Given the description of an element on the screen output the (x, y) to click on. 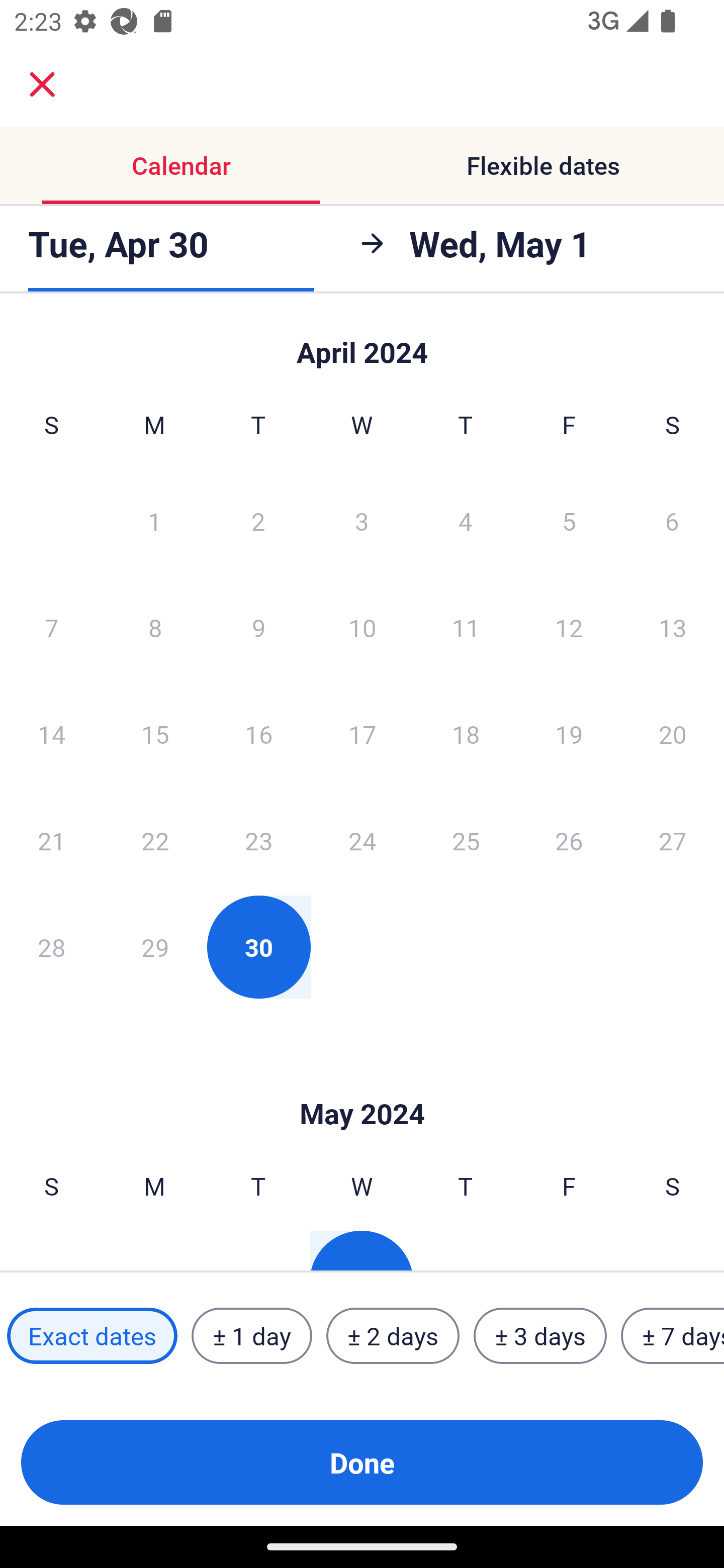
close. (42, 84)
Flexible dates (542, 164)
Skip to Done (362, 343)
1 Monday, April 1, 2024 (154, 520)
2 Tuesday, April 2, 2024 (257, 520)
3 Wednesday, April 3, 2024 (361, 520)
4 Thursday, April 4, 2024 (465, 520)
5 Friday, April 5, 2024 (568, 520)
6 Saturday, April 6, 2024 (672, 520)
7 Sunday, April 7, 2024 (51, 626)
8 Monday, April 8, 2024 (155, 626)
9 Tuesday, April 9, 2024 (258, 626)
10 Wednesday, April 10, 2024 (362, 626)
11 Thursday, April 11, 2024 (465, 626)
12 Friday, April 12, 2024 (569, 626)
13 Saturday, April 13, 2024 (672, 626)
14 Sunday, April 14, 2024 (51, 733)
15 Monday, April 15, 2024 (155, 733)
16 Tuesday, April 16, 2024 (258, 733)
17 Wednesday, April 17, 2024 (362, 733)
18 Thursday, April 18, 2024 (465, 733)
19 Friday, April 19, 2024 (569, 733)
20 Saturday, April 20, 2024 (672, 733)
21 Sunday, April 21, 2024 (51, 840)
22 Monday, April 22, 2024 (155, 840)
23 Tuesday, April 23, 2024 (258, 840)
24 Wednesday, April 24, 2024 (362, 840)
25 Thursday, April 25, 2024 (465, 840)
26 Friday, April 26, 2024 (569, 840)
27 Saturday, April 27, 2024 (672, 840)
28 Sunday, April 28, 2024 (51, 946)
29 Monday, April 29, 2024 (155, 946)
Skip to Done (362, 1083)
Exact dates (92, 1335)
± 1 day (251, 1335)
± 2 days (392, 1335)
± 3 days (539, 1335)
± 7 days (672, 1335)
Done (361, 1462)
